Given the description of an element on the screen output the (x, y) to click on. 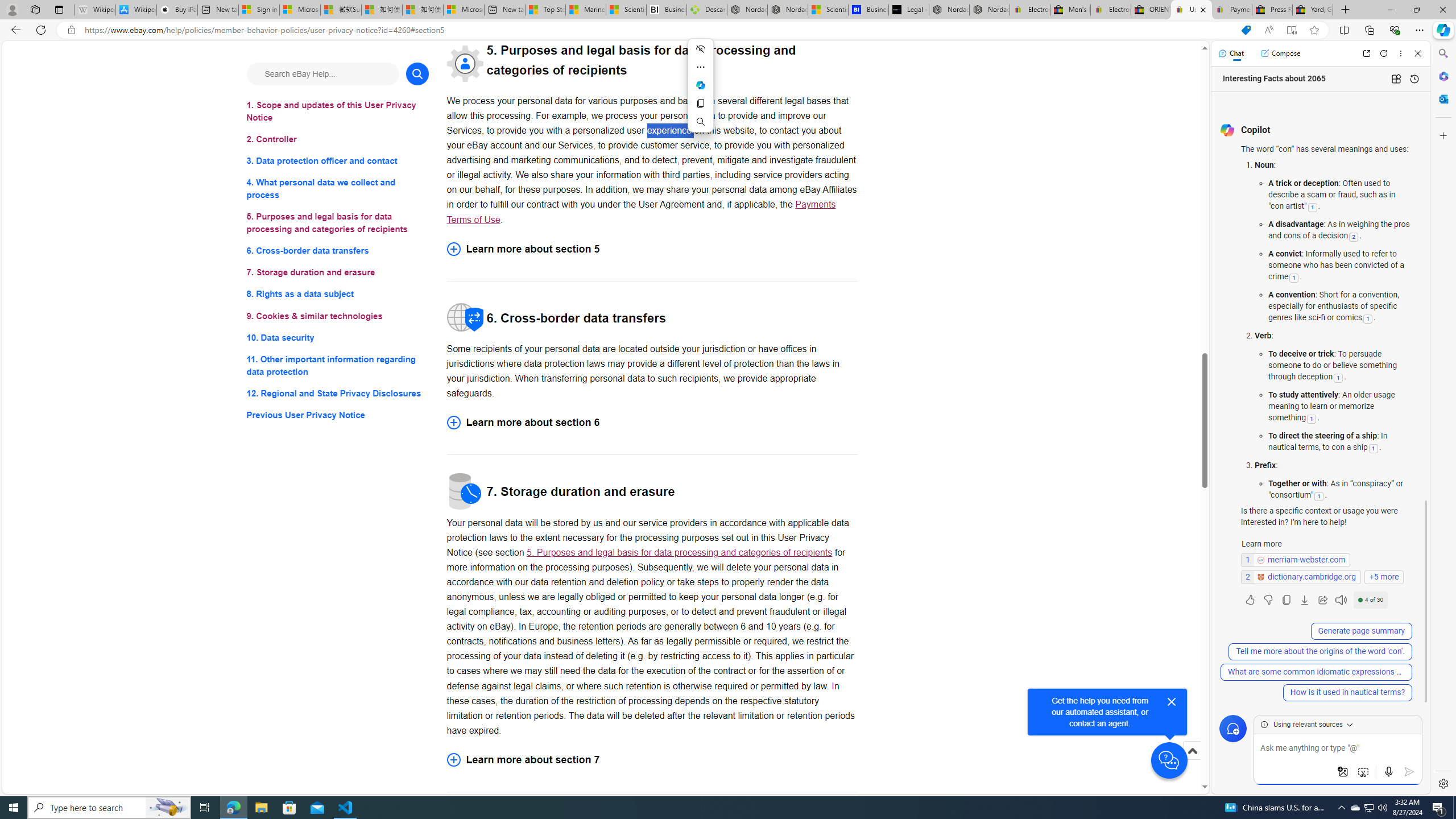
Enter Immersive Reader (F9) (1291, 29)
7. Storage duration and erasure (337, 272)
Microsoft account | Account Checkup (463, 9)
Learn more about section 5 (651, 248)
Top Stories - MSN (544, 9)
More actions (700, 67)
Hide menu (700, 49)
Mini menu on text selection (700, 84)
Open link in new tab (1366, 53)
